Given the description of an element on the screen output the (x, y) to click on. 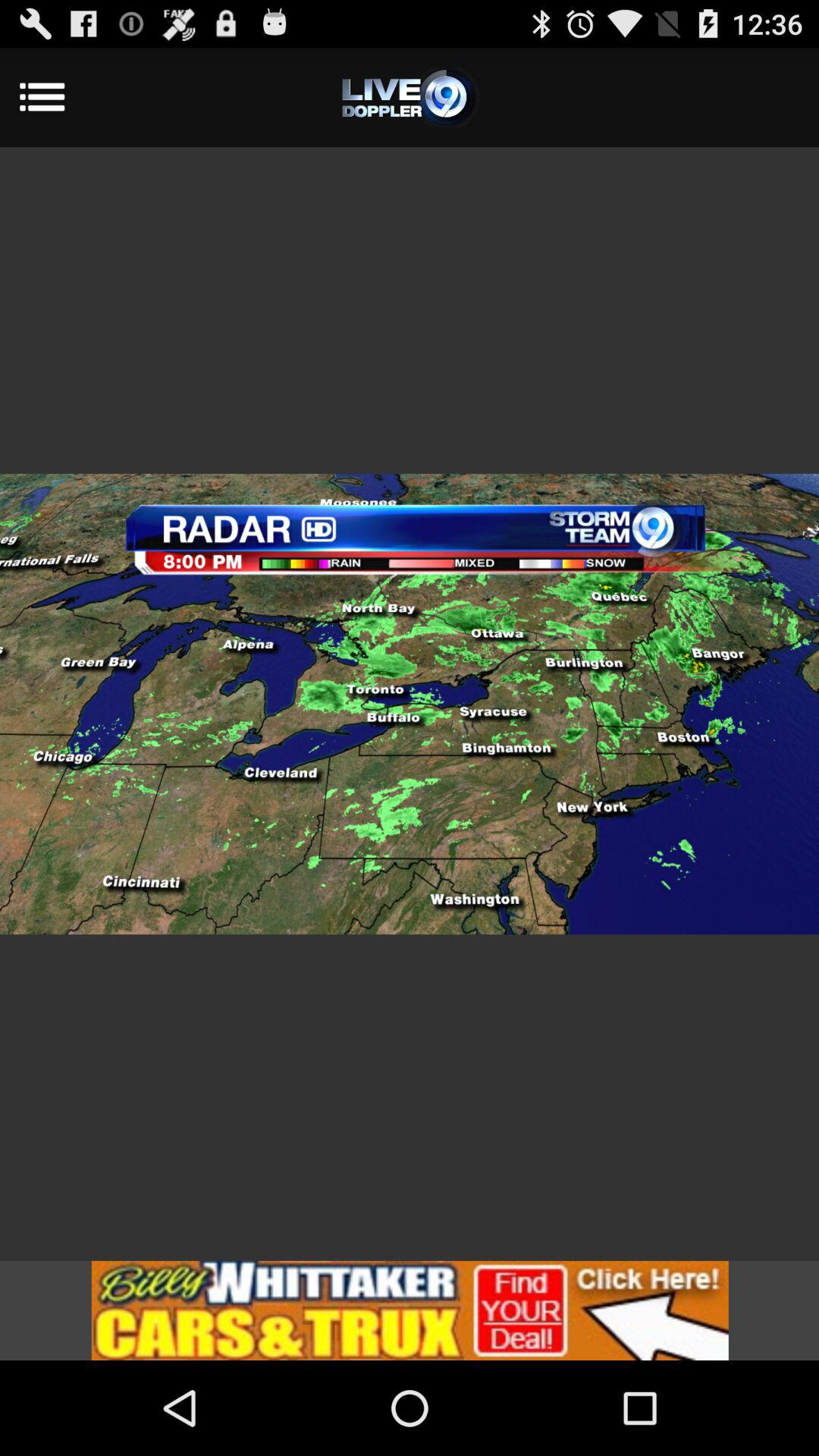
turn off icon at the top left corner (61, 97)
